Given the description of an element on the screen output the (x, y) to click on. 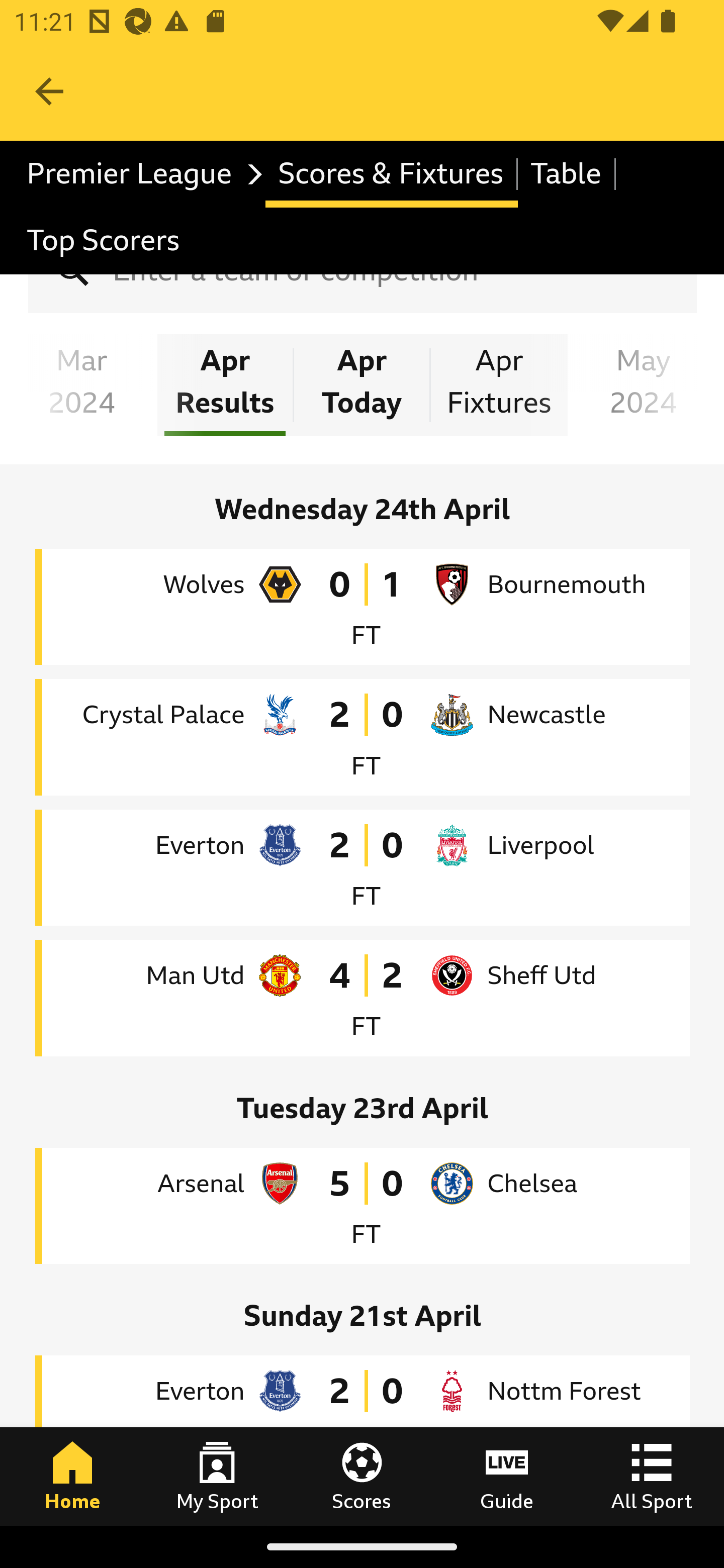
Navigate up (49, 91)
Premier League (140, 173)
Scores & Fixtures (391, 173)
Table (567, 173)
Top Scorers (103, 240)
My Sport (216, 1475)
Scores (361, 1475)
Guide (506, 1475)
All Sport (651, 1475)
